Given the description of an element on the screen output the (x, y) to click on. 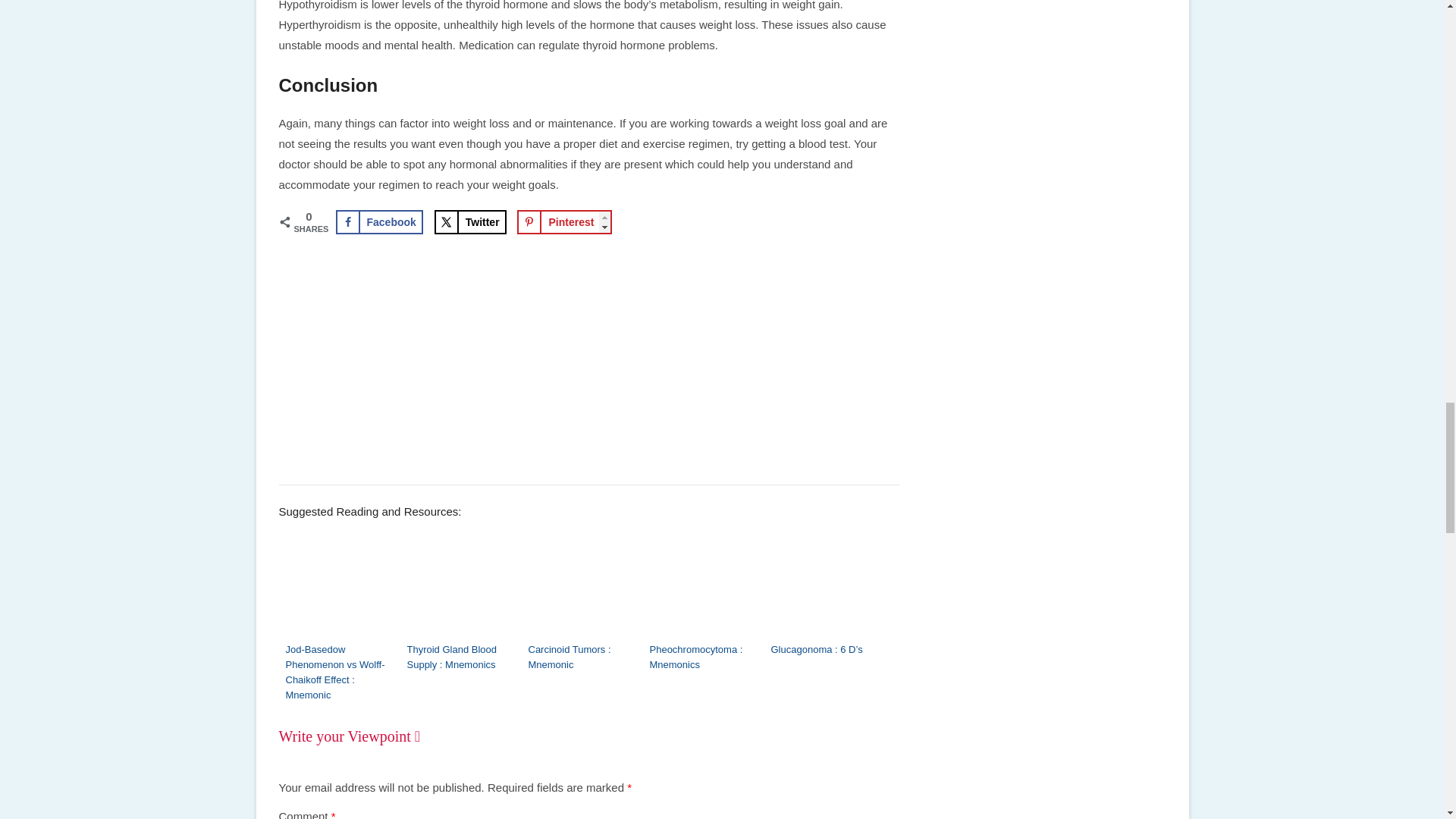
Twitter (469, 221)
Pinterest (563, 221)
Facebook (378, 221)
